Given the description of an element on the screen output the (x, y) to click on. 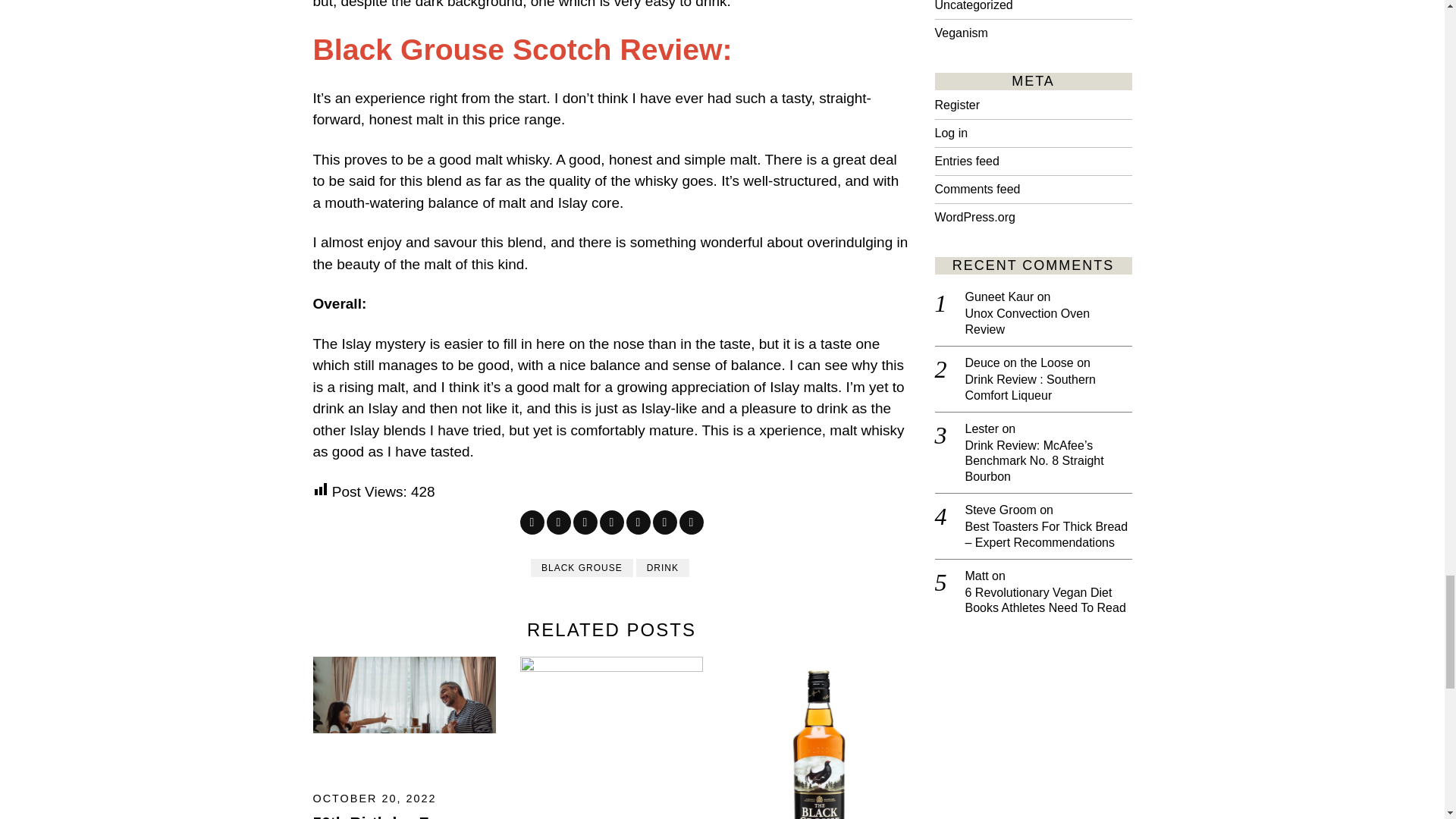
20 Oct, 2022 02:31:49 (374, 798)
DRINK (662, 567)
Black Grouse Scotch Review: (522, 49)
BLACK GROUSE (582, 567)
